Given the description of an element on the screen output the (x, y) to click on. 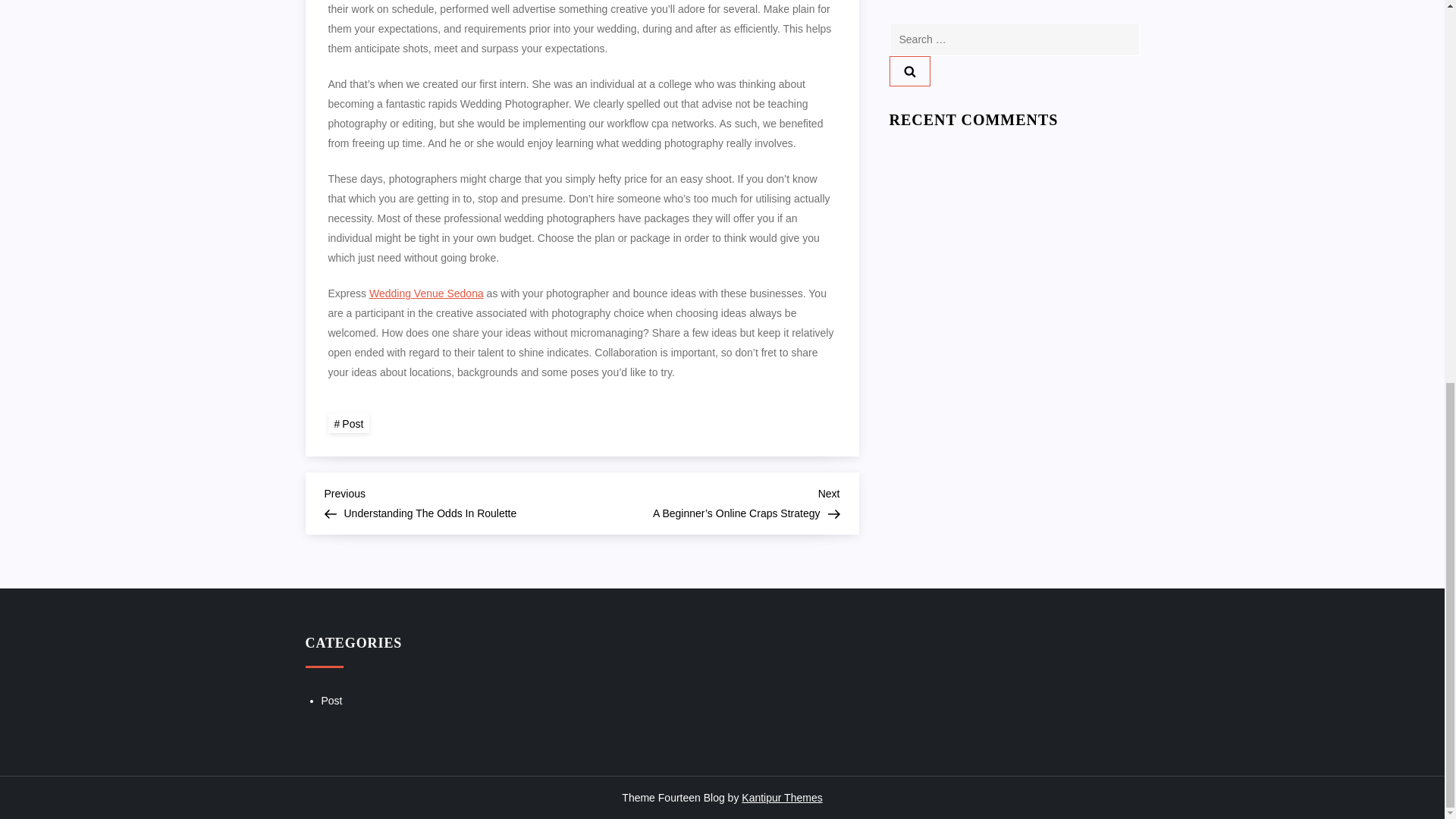
Post (348, 423)
Kantipur Themes (781, 797)
Post (453, 501)
Wedding Venue Sedona (331, 700)
